Given the description of an element on the screen output the (x, y) to click on. 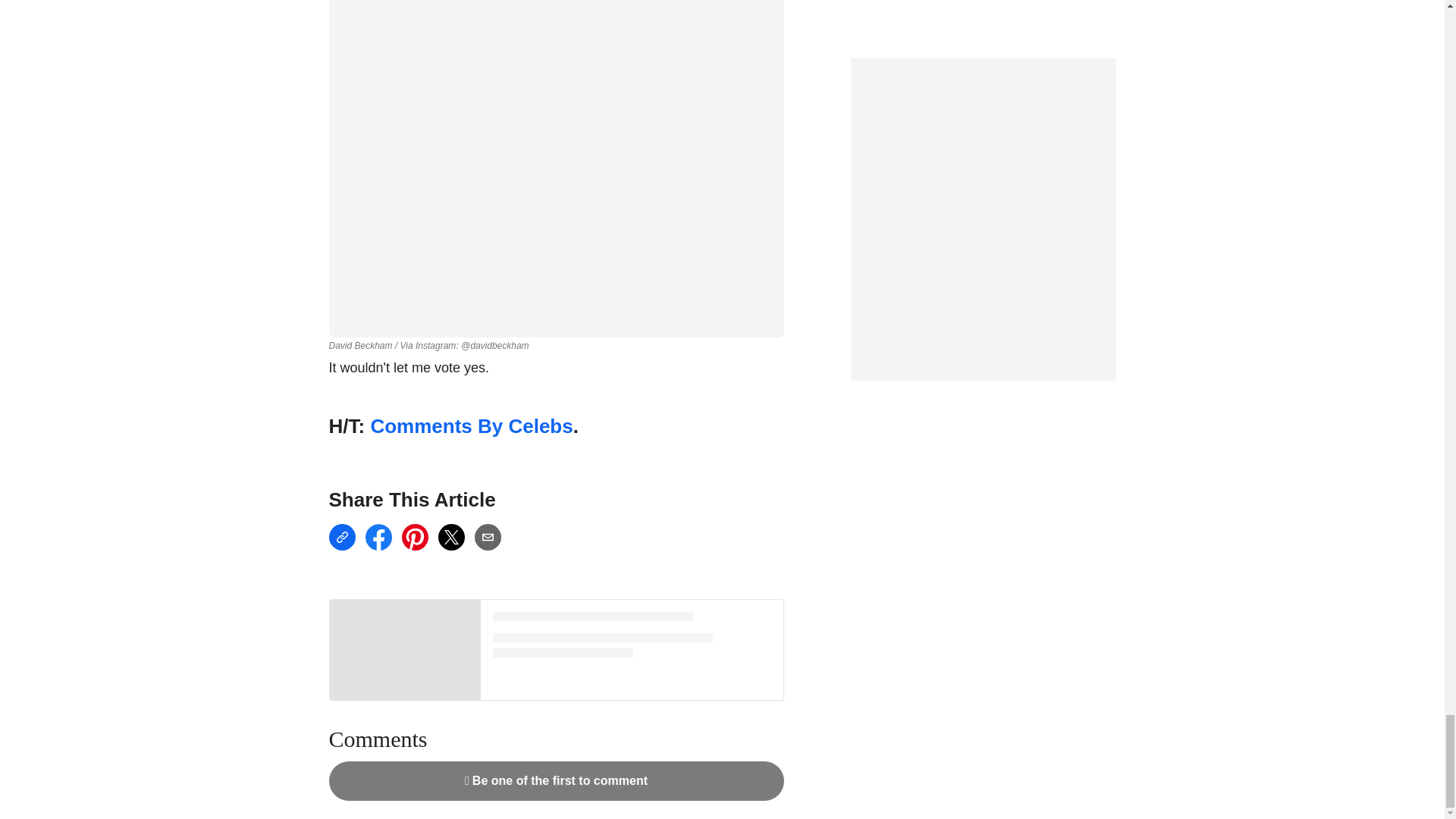
Link (341, 536)
Twitter (451, 536)
Pinterest (414, 537)
Mail (487, 536)
Facebook (378, 537)
